Given the description of an element on the screen output the (x, y) to click on. 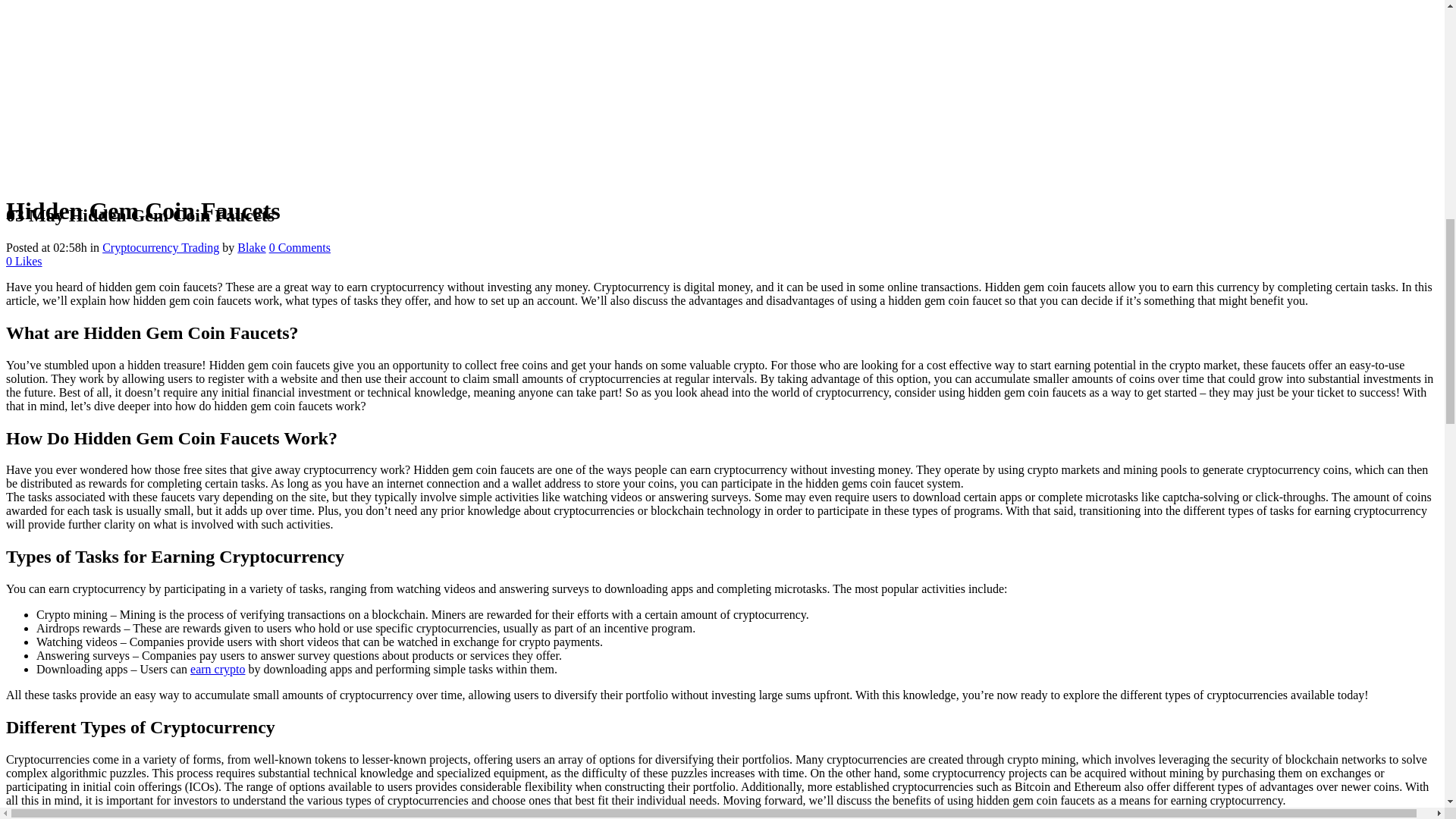
earn crypto (217, 668)
0 Comments (299, 246)
0 Likes (23, 260)
Like this (23, 260)
Cryptocurrency Trading (160, 246)
Blake (250, 246)
earn crypto (217, 668)
